Given the description of an element on the screen output the (x, y) to click on. 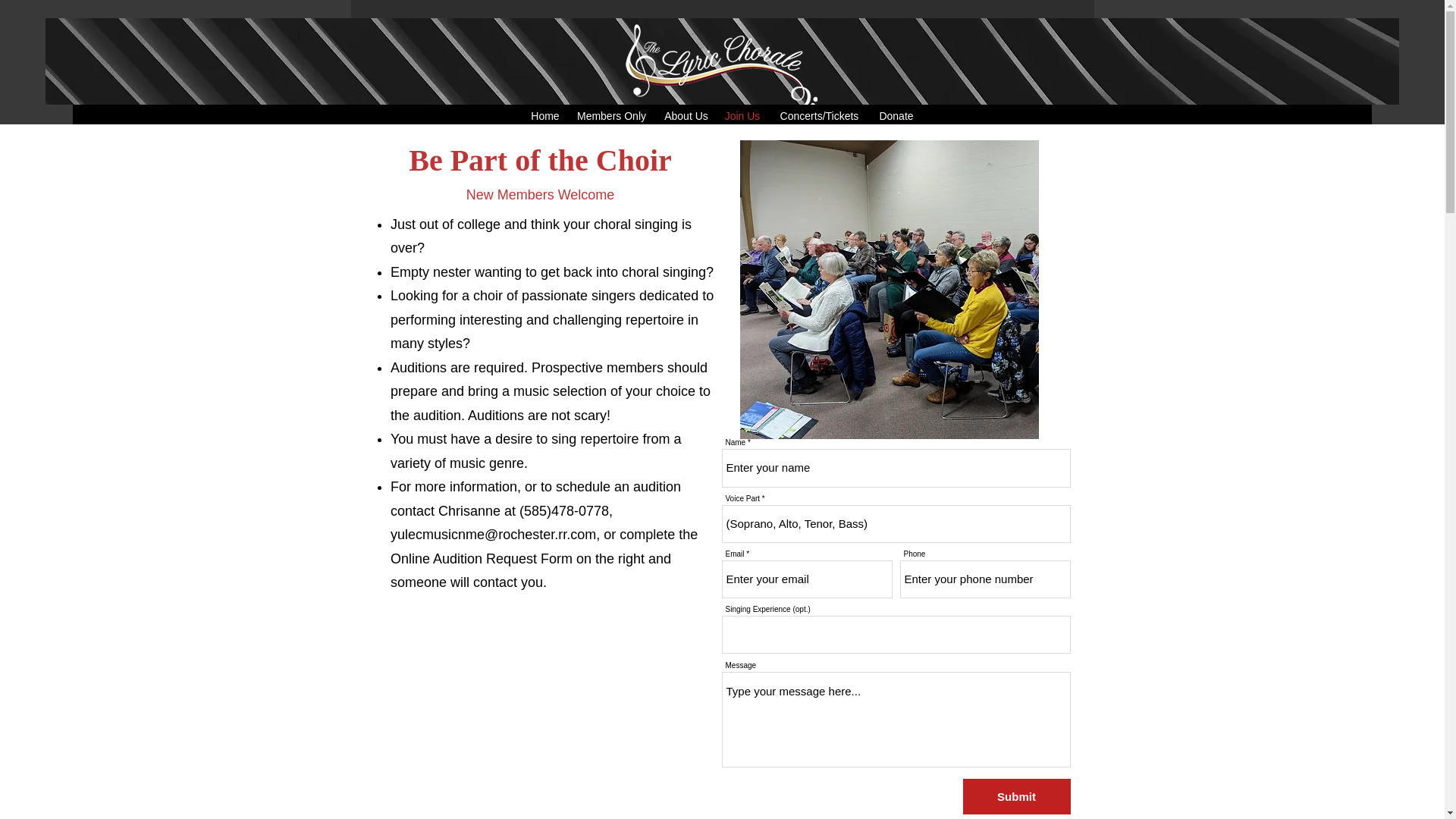
Home (544, 115)
Members Only (611, 115)
Join Us (741, 115)
About Us (685, 115)
Donate (895, 115)
Submit (1016, 796)
